Given the description of an element on the screen output the (x, y) to click on. 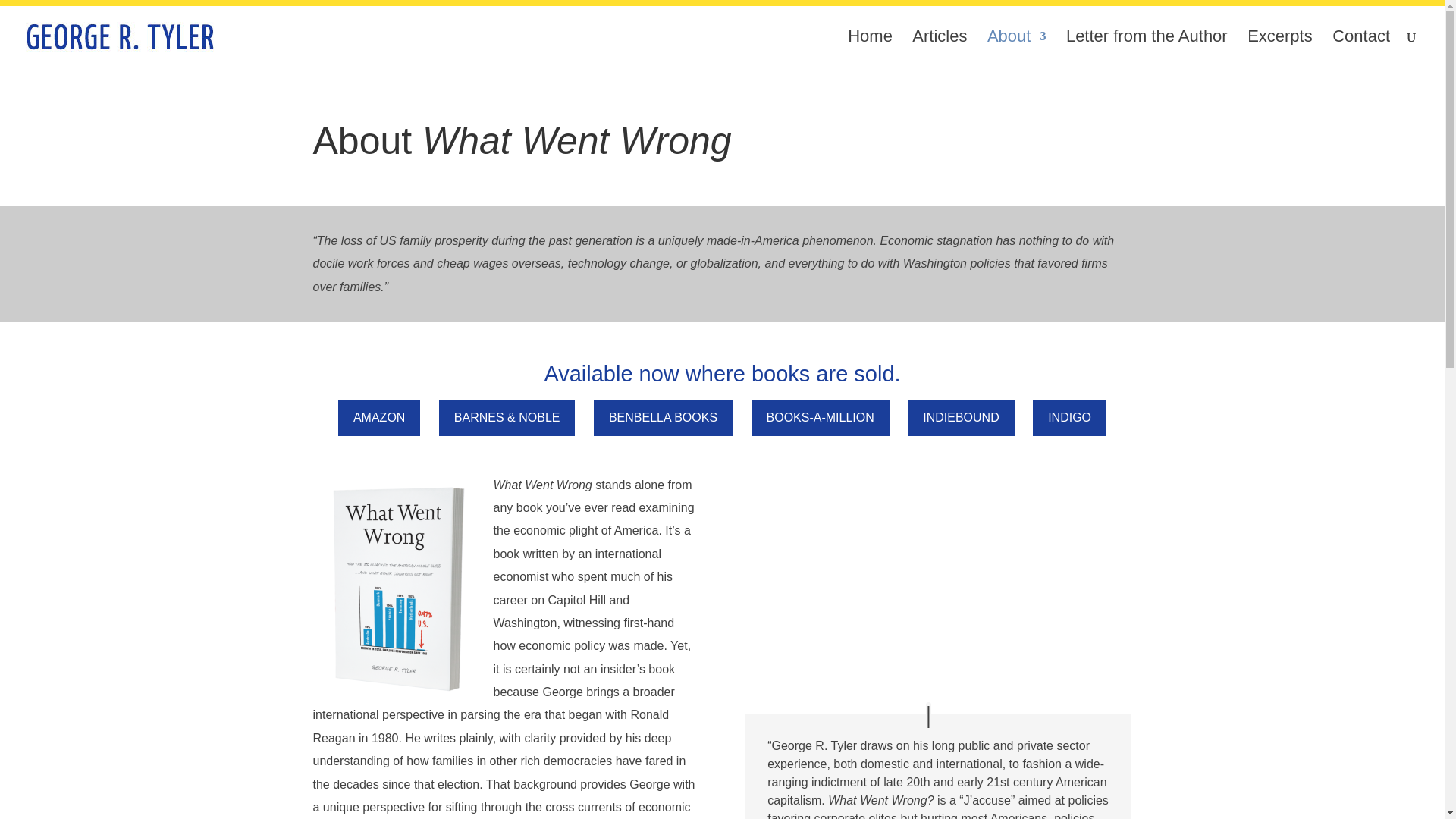
INDIEBOUND (960, 417)
What Went Wrong Book Trailer (937, 582)
Contact (1361, 48)
BOOKS-A-MILLION (820, 417)
INDIGO (1069, 417)
BENBELLA BOOKS (663, 417)
About (1016, 48)
Articles (939, 48)
Excerpts (1280, 48)
AMAZON (378, 417)
Home (869, 48)
Letter from the Author (1146, 48)
